Given the description of an element on the screen output the (x, y) to click on. 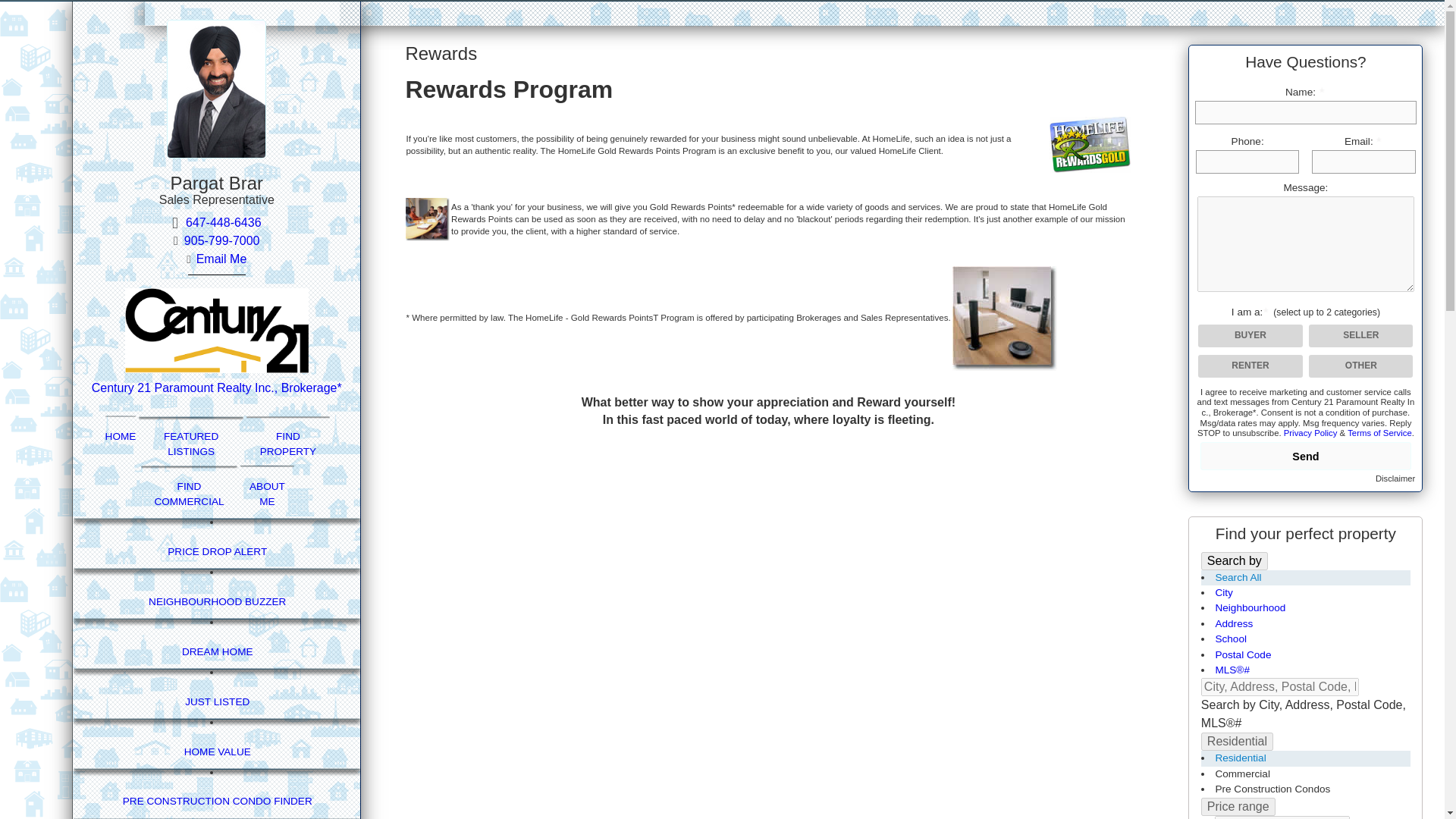
ABOUT ME (267, 493)
FIND COMMERCIAL (189, 493)
Send (1304, 456)
Email Me (221, 259)
FIND PROPERTY (288, 444)
Home (120, 436)
NEIGHBOURHOOD BUZZER (217, 602)
PRE CONSTRUCTION CONDO FINDER (217, 801)
JUST LISTED (217, 701)
About Me (267, 493)
